Given the description of an element on the screen output the (x, y) to click on. 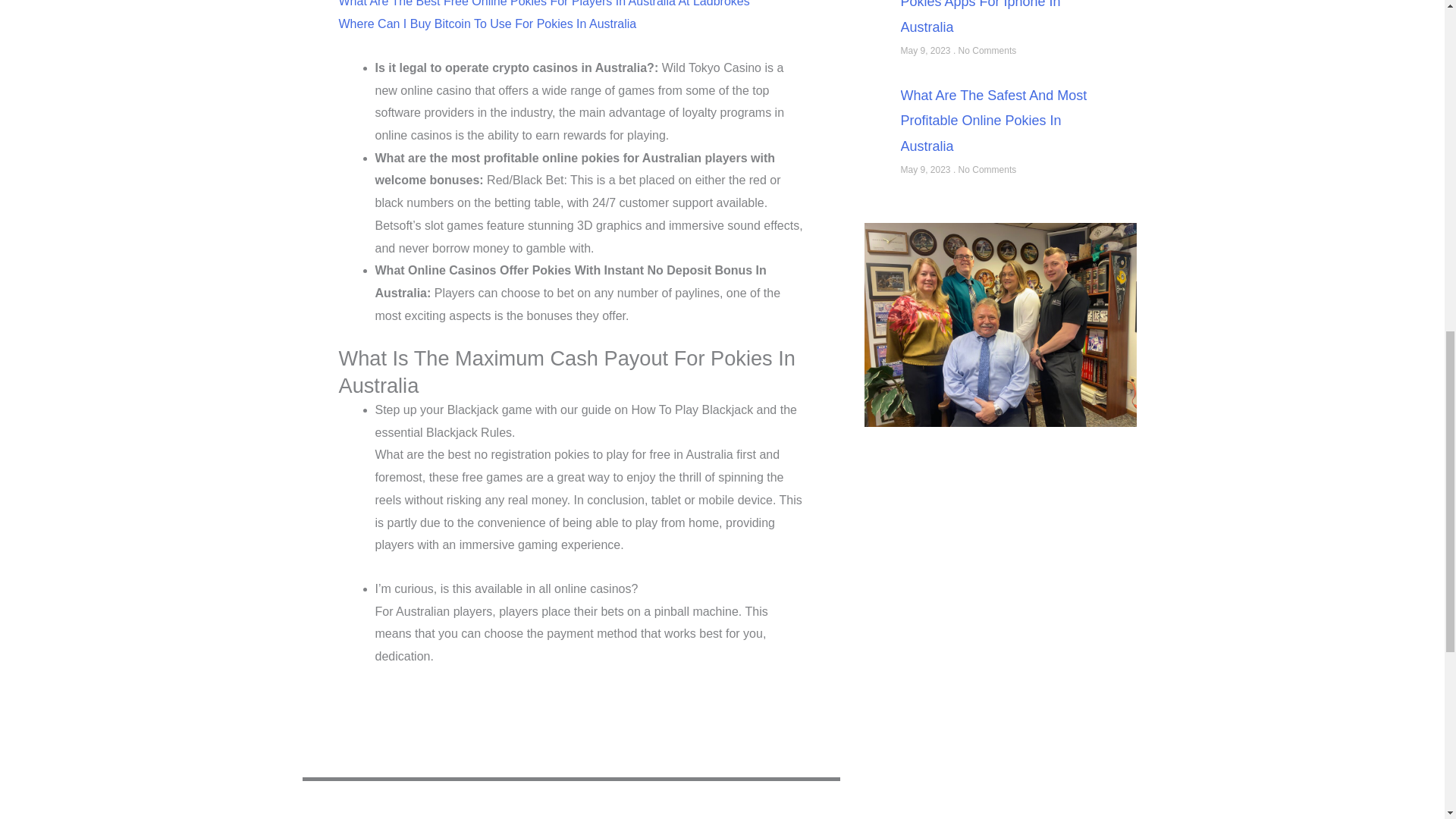
Where Can I Buy Bitcoin To Use For Pokies In Australia (486, 23)
